Given the description of an element on the screen output the (x, y) to click on. 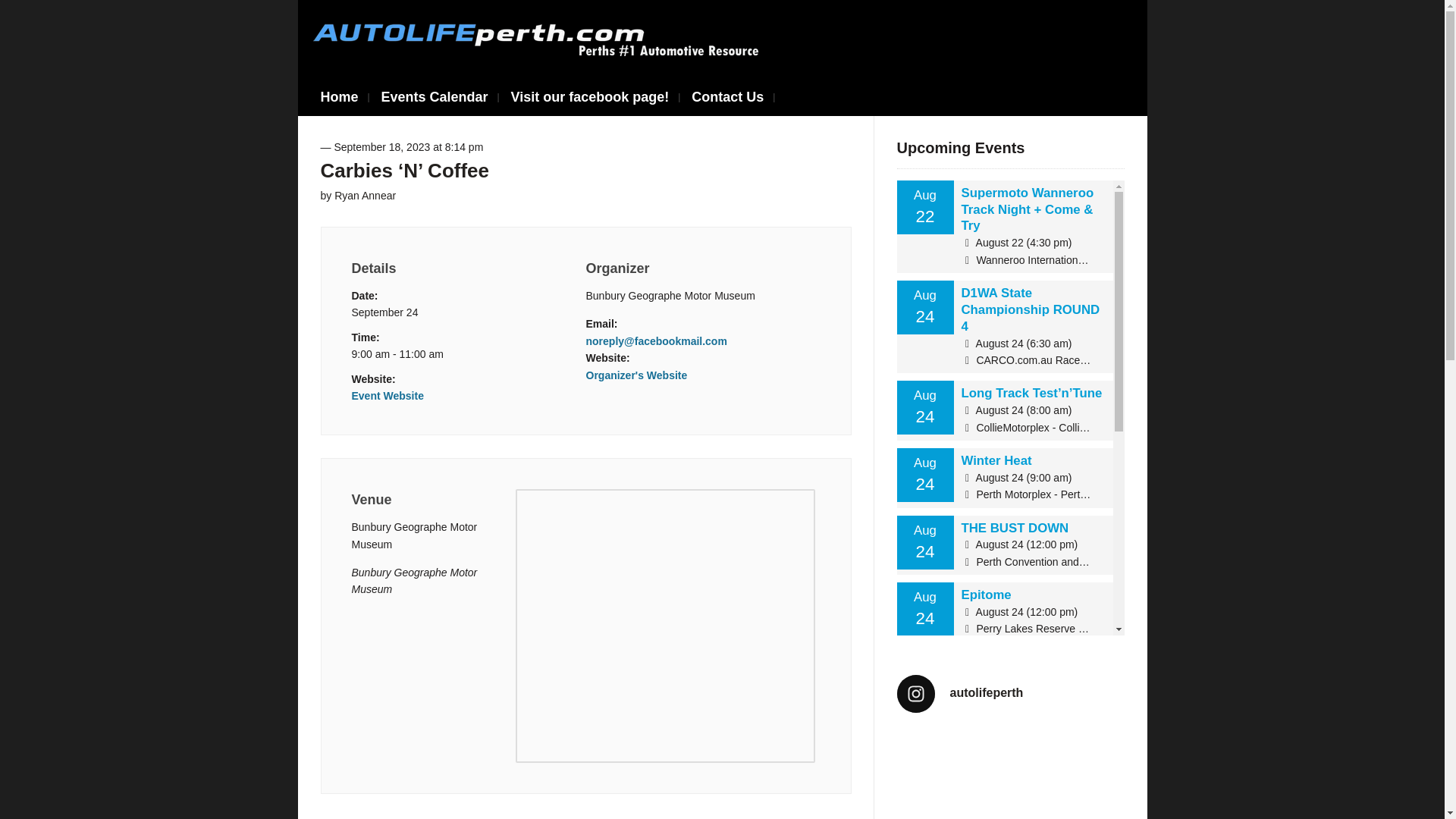
Posts by Ryan Annear (365, 195)
D1WA State Championship ROUND 4 (1030, 309)
THE BUST DOWN (1014, 527)
Events Calendar (434, 97)
Ryan Annear (365, 195)
Home (338, 97)
autolifeperth (1010, 693)
Visit our facebook page! (590, 97)
Event Website (387, 395)
Winter Heat (996, 460)
